Given the description of an element on the screen output the (x, y) to click on. 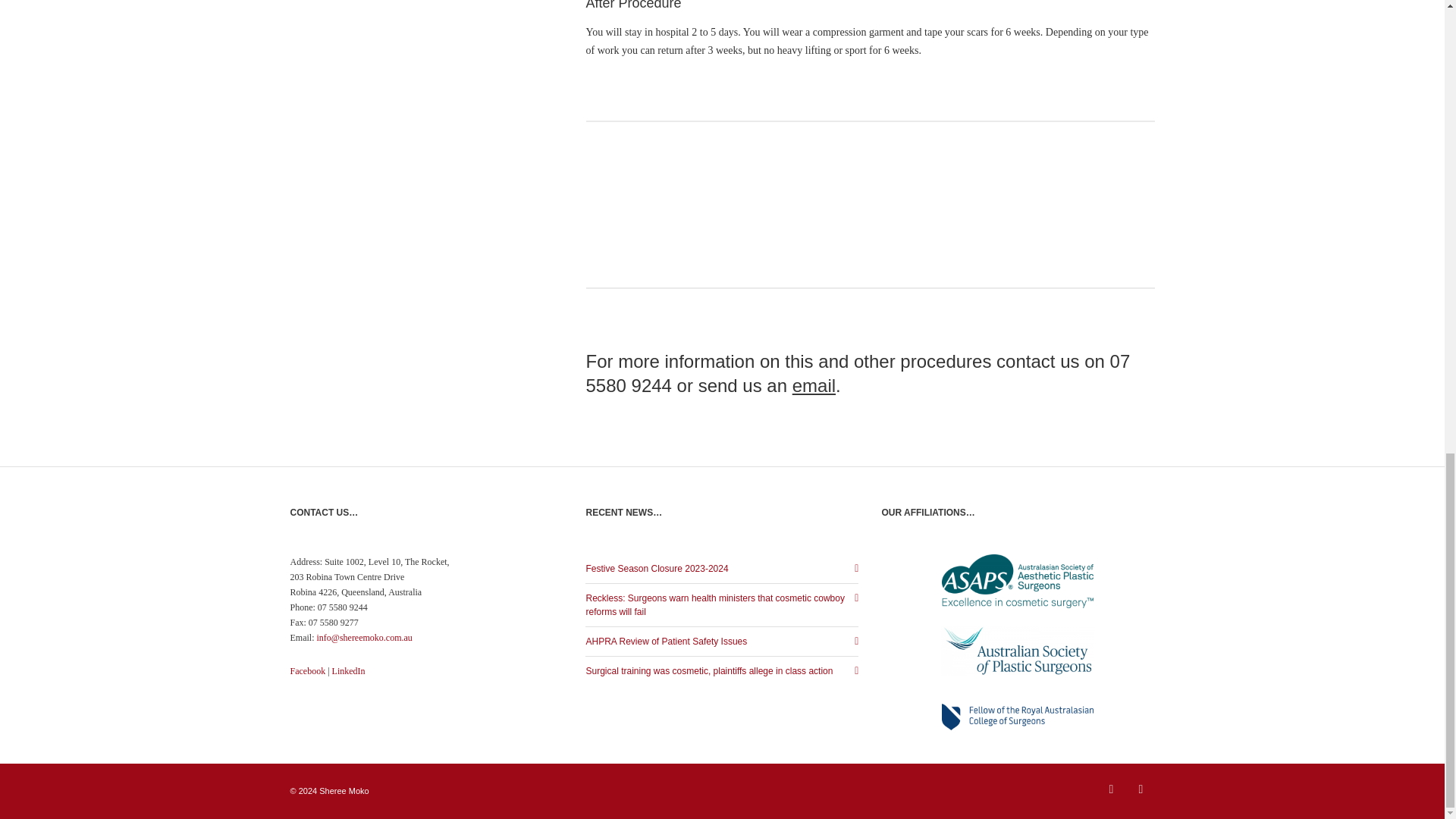
email (813, 385)
